Given the description of an element on the screen output the (x, y) to click on. 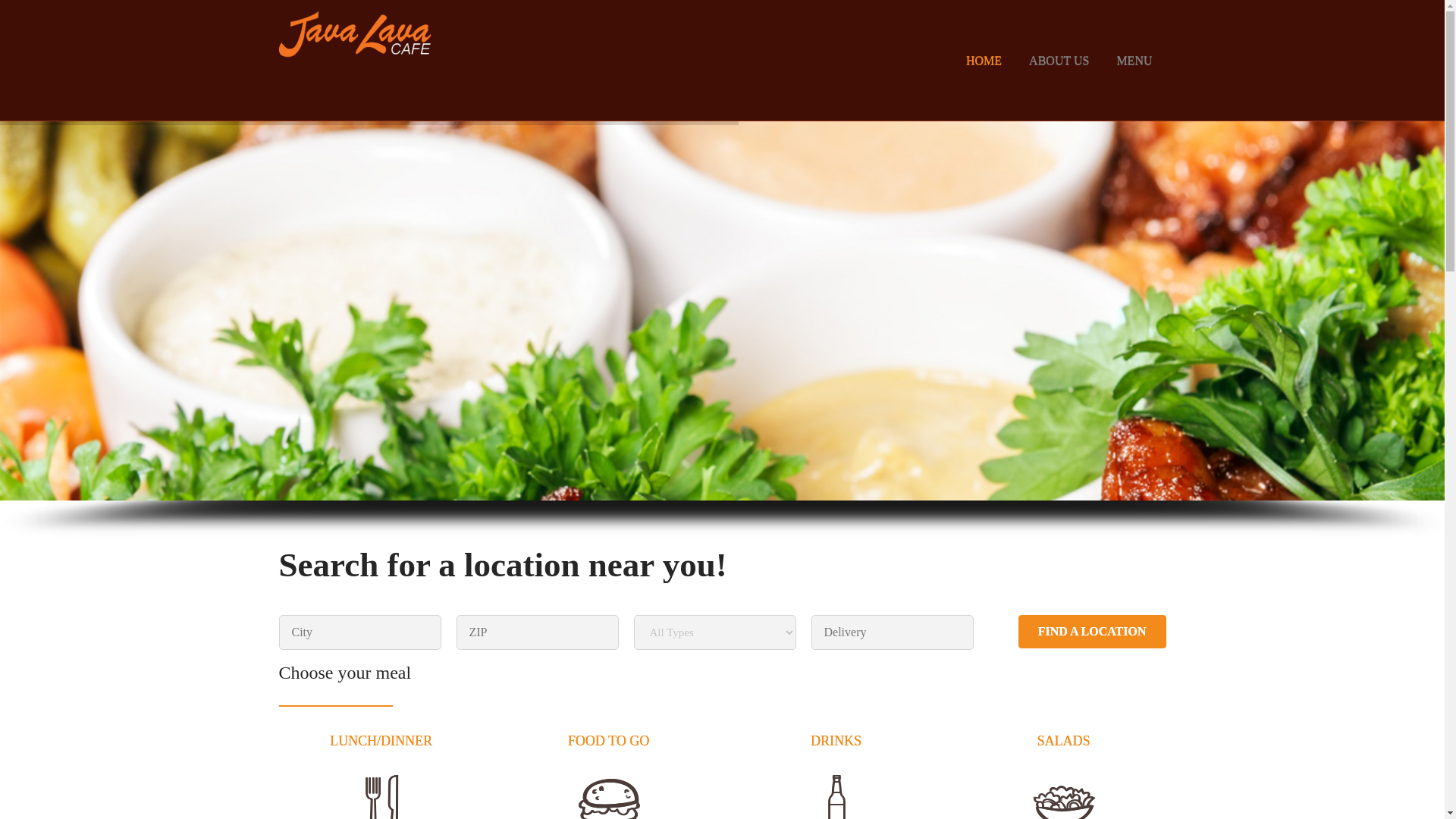
Find A Location Element type: text (1092, 630)
Cafe Five Dock Revesby Pennant Hills Hornsby Ingleburn Element type: hover (354, 34)
HOME Element type: text (983, 60)
MENU Element type: text (1133, 60)
ABOUT US Element type: text (1058, 60)
